Given the description of an element on the screen output the (x, y) to click on. 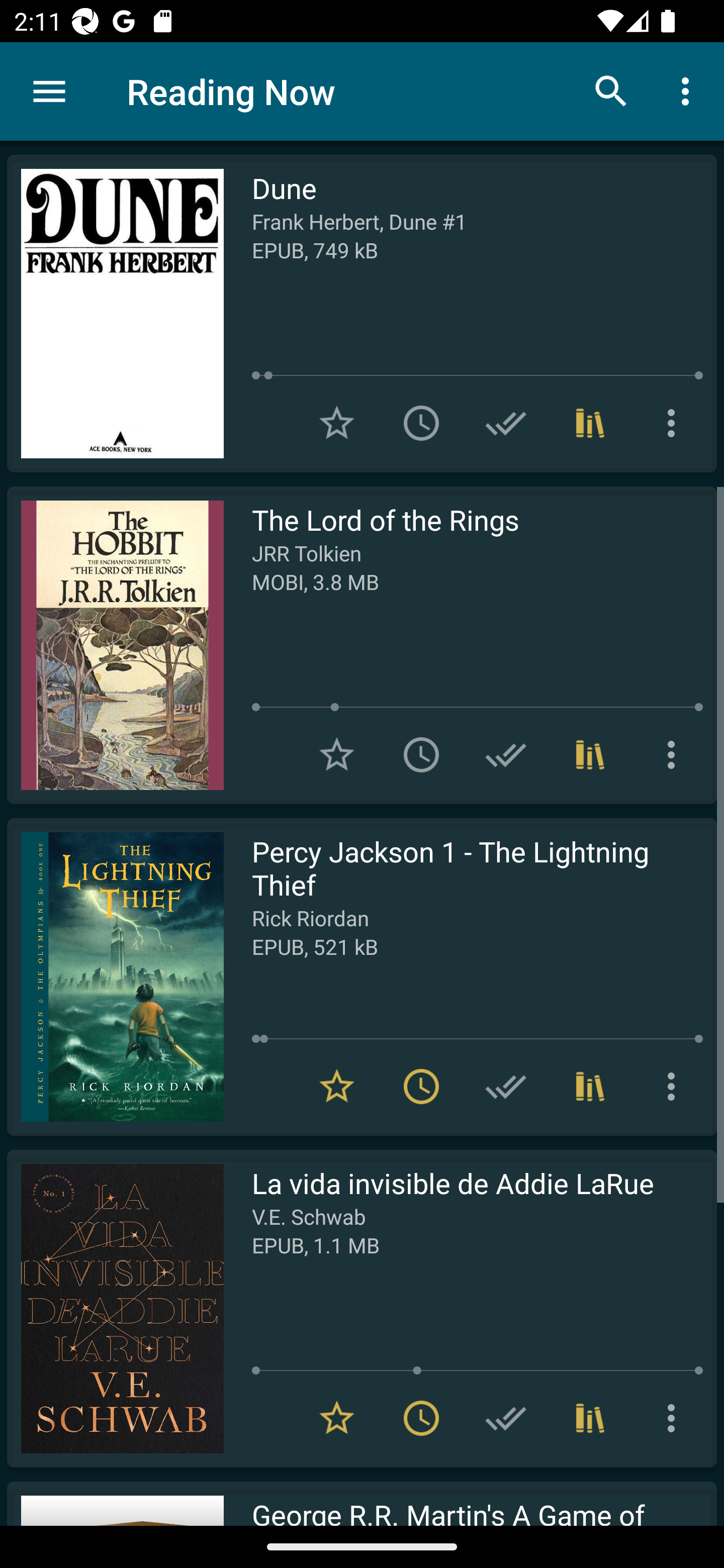
Menu (49, 91)
Search books & documents (611, 90)
More options (688, 90)
Read Dune (115, 313)
Add to Favorites (336, 423)
Add to To read (421, 423)
Add to Have read (505, 423)
Collections (1) (590, 423)
More options (674, 423)
Read The Lord of the Rings (115, 645)
Add to Favorites (336, 753)
Add to To read (421, 753)
Add to Have read (505, 753)
Collections (1) (590, 753)
More options (674, 753)
Read Percy Jackson 1 - The Lightning Thief (115, 976)
Remove from Favorites (336, 1086)
Remove from To read (421, 1086)
Add to Have read (505, 1086)
Collections (1) (590, 1086)
More options (674, 1086)
Read La vida invisible de Addie LaRue (115, 1308)
Remove from Favorites (336, 1417)
Remove from To read (421, 1417)
Add to Have read (505, 1417)
Collections (1) (590, 1417)
More options (674, 1417)
